Given the description of an element on the screen output the (x, y) to click on. 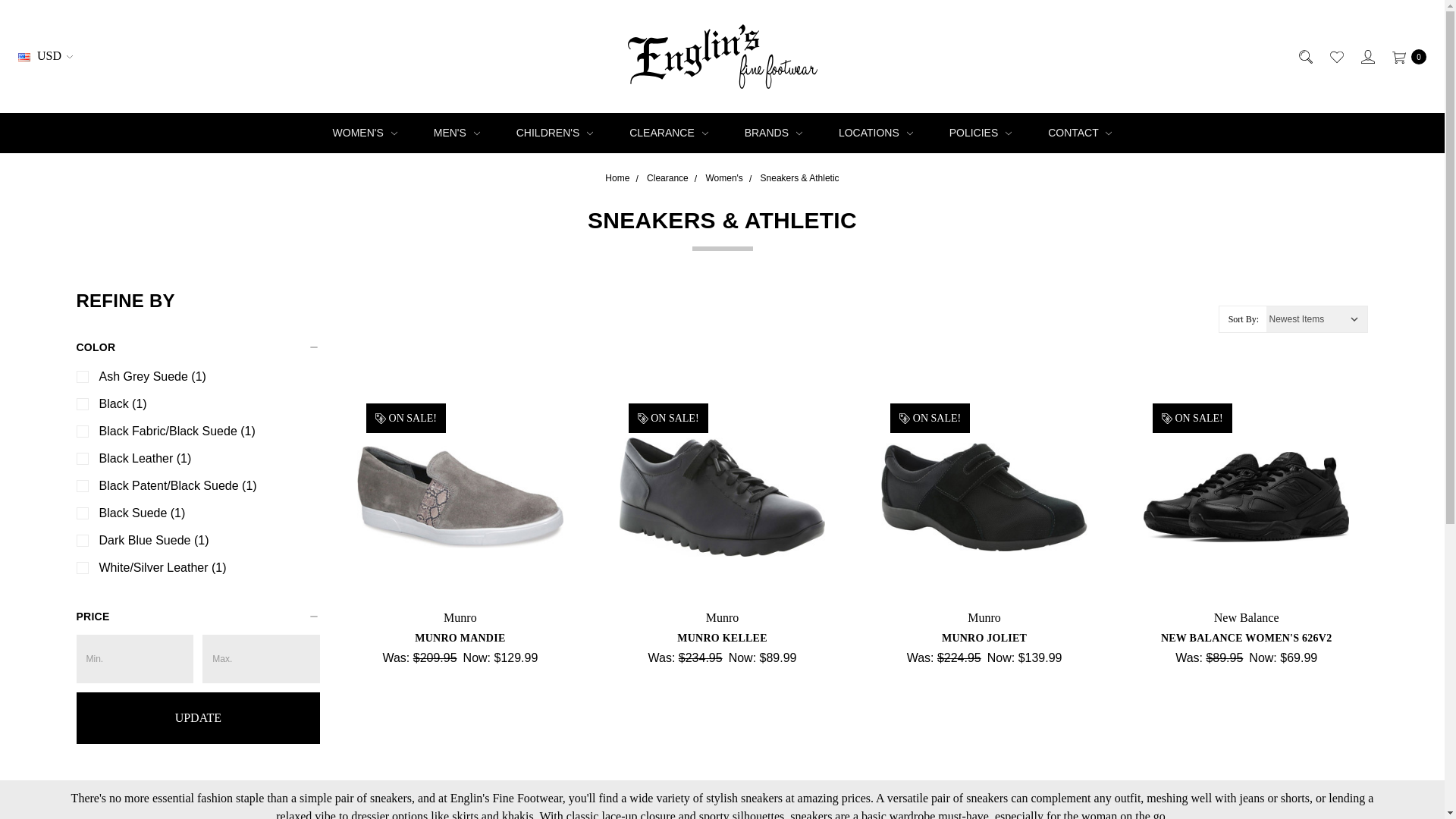
USD (47, 55)
0 (1405, 55)
Englin's Fine Footwear (721, 56)
Black Leather (722, 496)
Ash Grey Suede (459, 496)
WOMEN'S (364, 133)
Black (1245, 496)
